Given the description of an element on the screen output the (x, y) to click on. 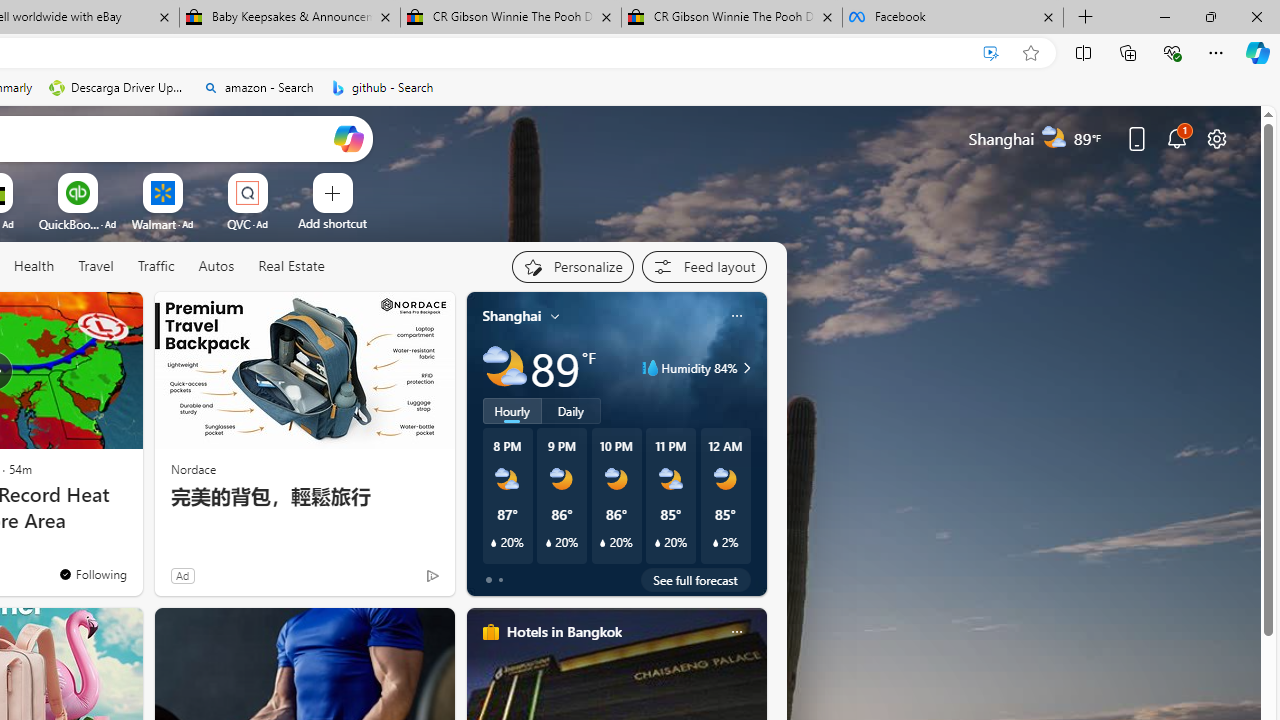
Page settings (1216, 138)
tab-1 (500, 579)
Personalize your feed" (571, 266)
Feed settings (703, 266)
Enhance video (991, 53)
Hide this story (82, 315)
